Given the description of an element on the screen output the (x, y) to click on. 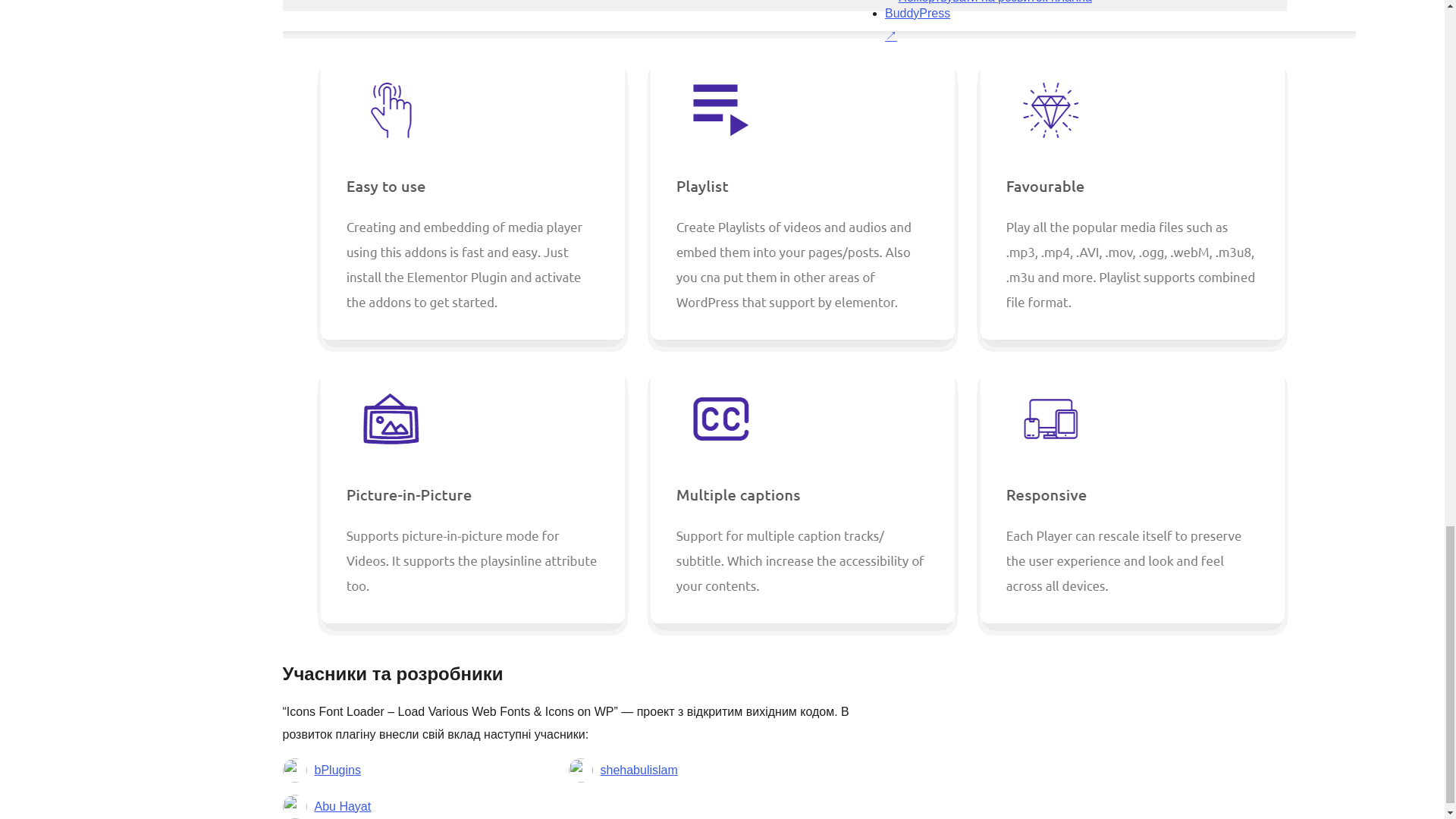
WordPress.org (864, 66)
WordPress.org (1014, 66)
